Given the description of an element on the screen output the (x, y) to click on. 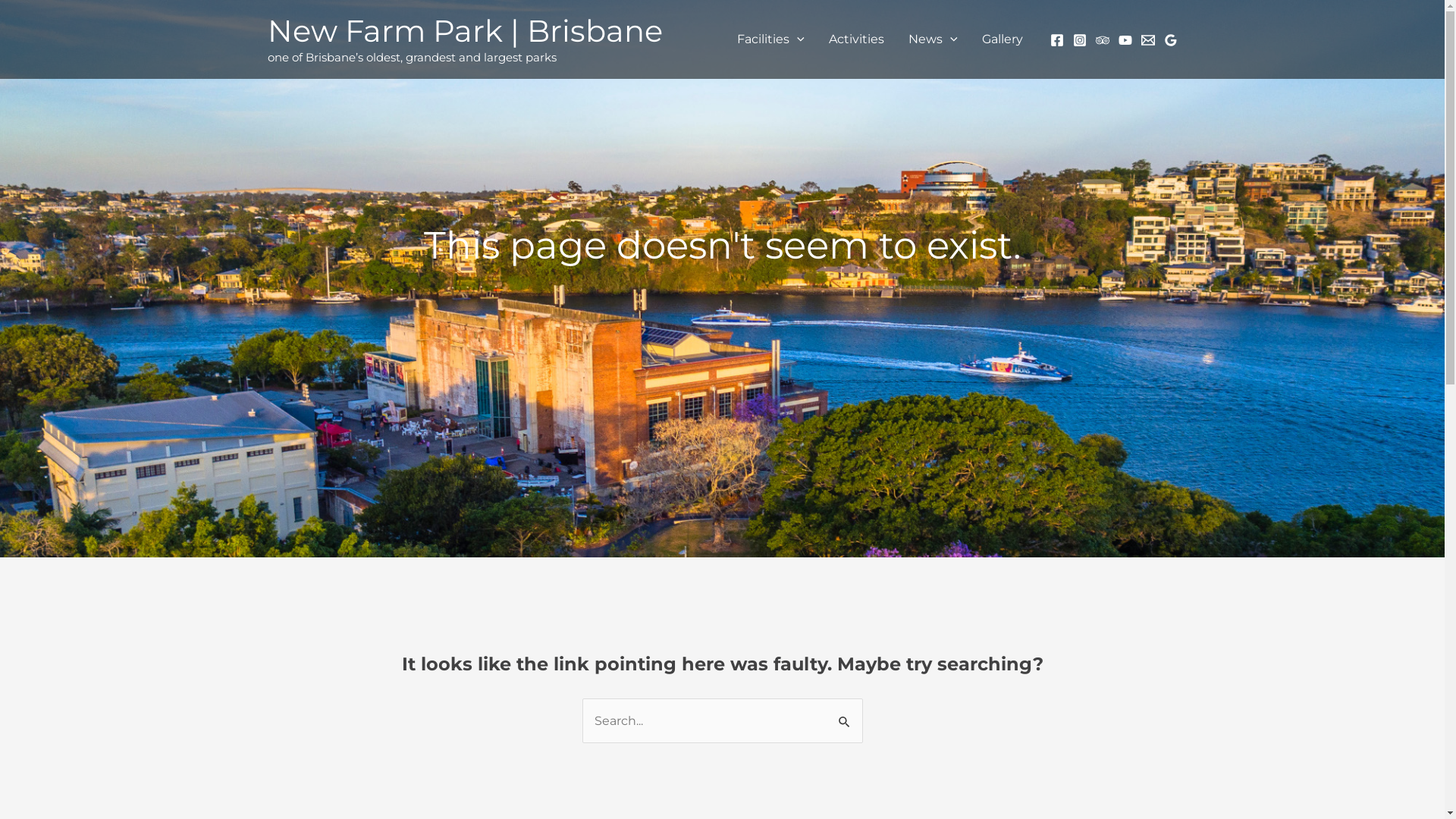
News Element type: text (932, 39)
Facilities Element type: text (770, 39)
Activities Element type: text (856, 39)
Gallery Element type: text (1001, 39)
New Farm Park | Brisbane Element type: text (464, 30)
Search Element type: text (845, 714)
